Given the description of an element on the screen output the (x, y) to click on. 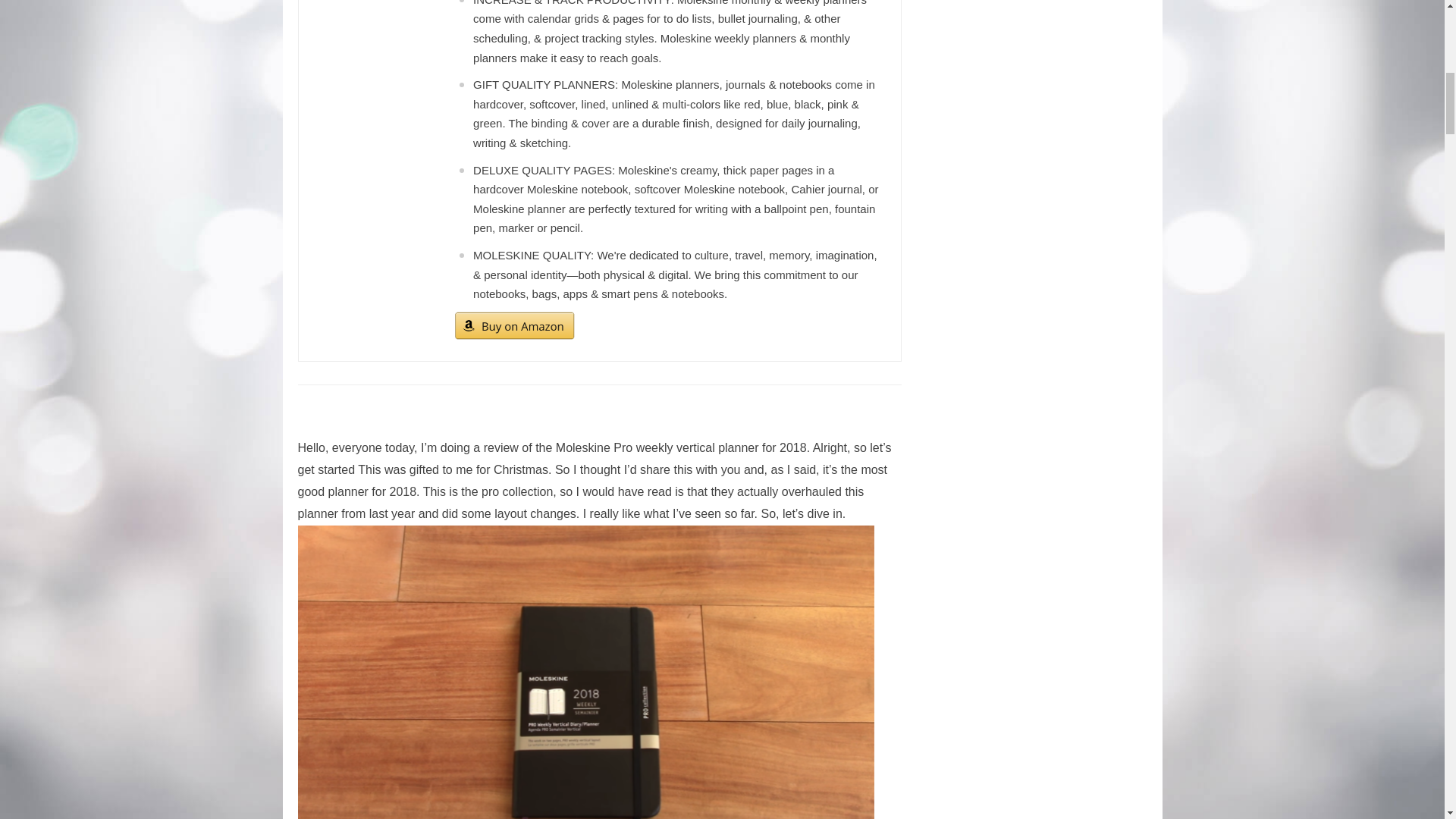
Buy On Amazon (514, 325)
